Given the description of an element on the screen output the (x, y) to click on. 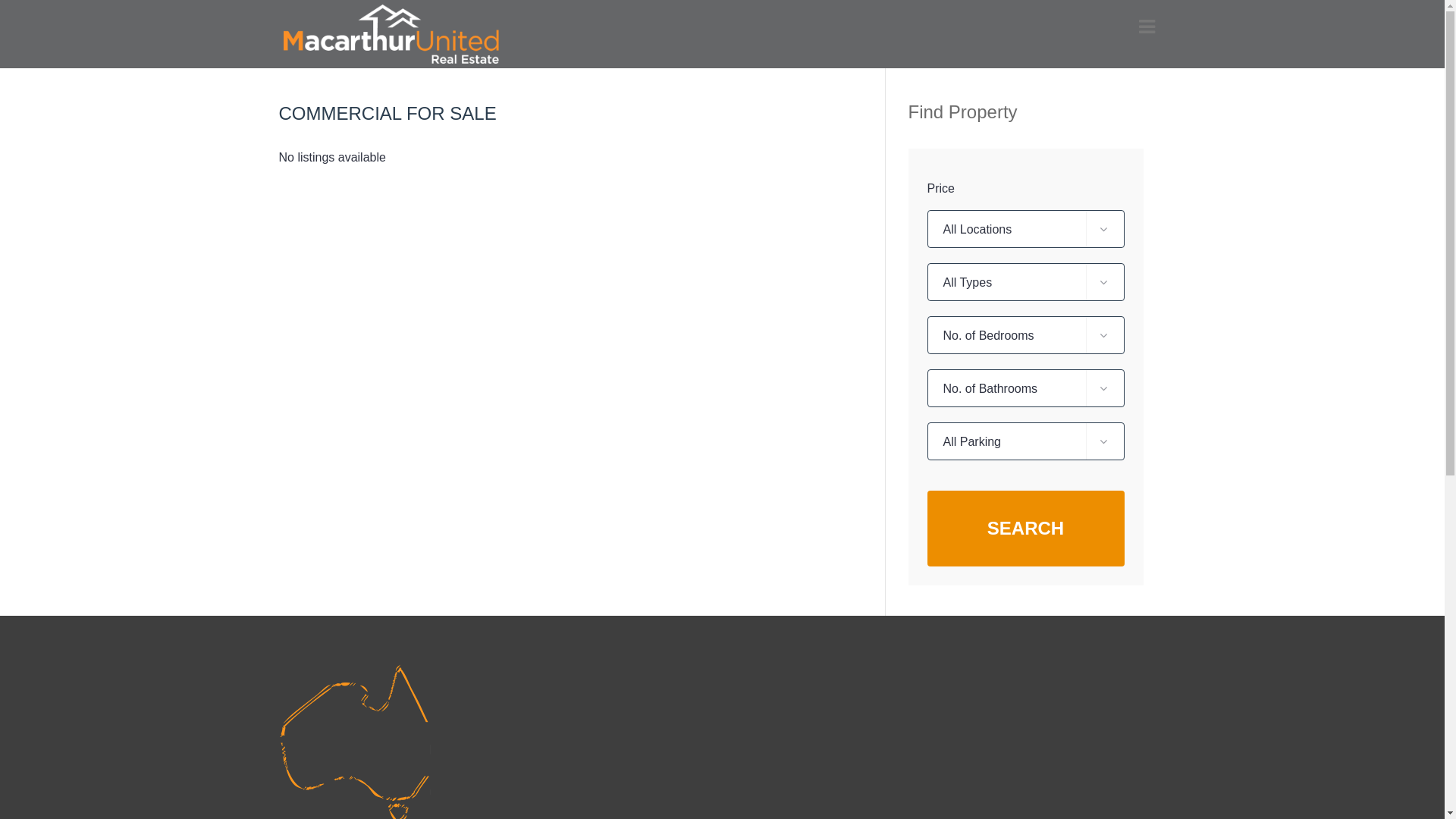
SEARCH Element type: text (1024, 528)
Navigation Element type: text (1145, 26)
